Given the description of an element on the screen output the (x, y) to click on. 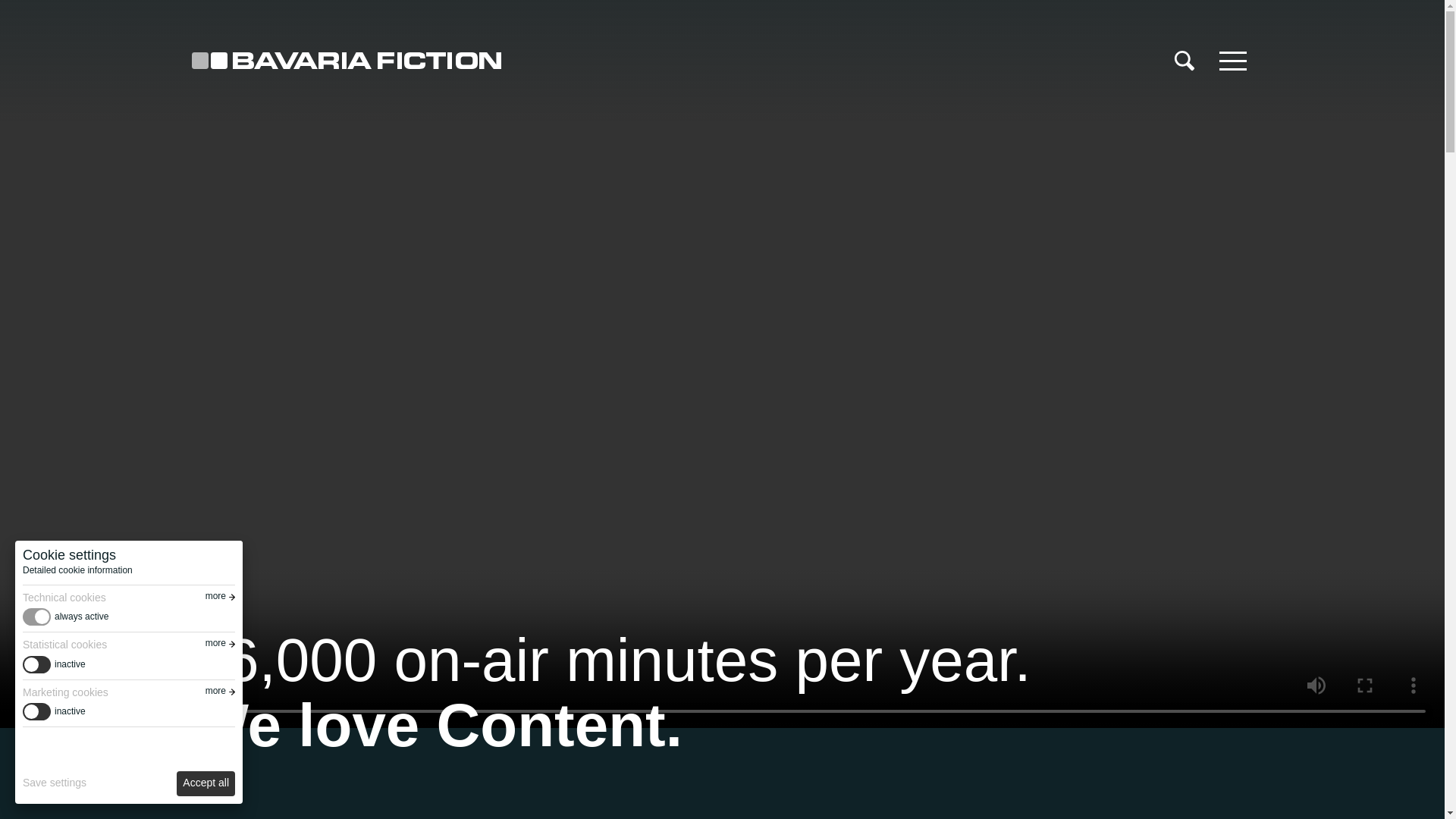
Save settings (54, 783)
Detailed cookie information (77, 570)
Marketing cookies (128, 692)
Accept all (205, 783)
Statistical cookies (128, 644)
Technical cookies (128, 597)
